Given the description of an element on the screen output the (x, y) to click on. 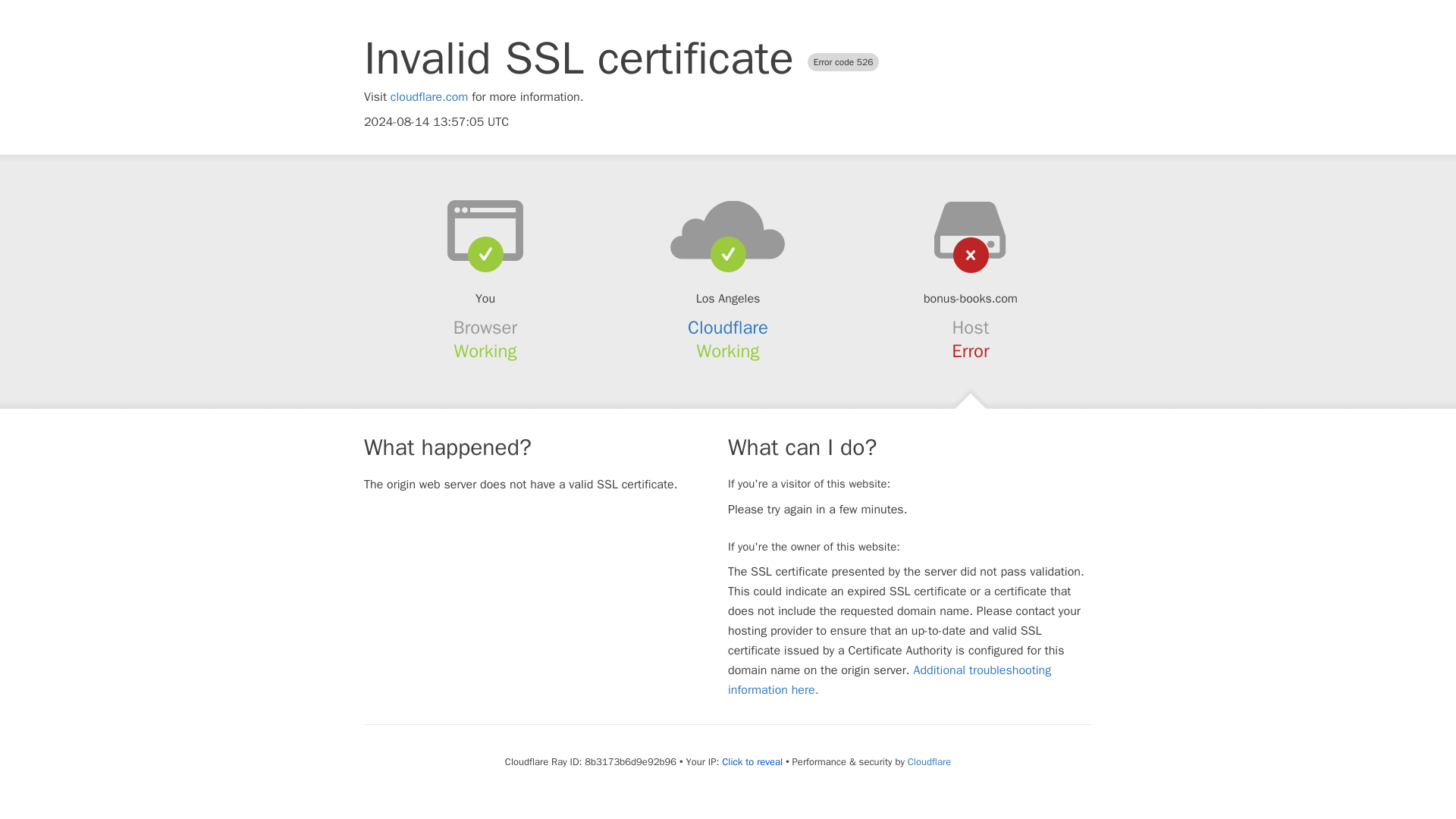
Click to reveal (752, 762)
cloudflare.com (429, 96)
Additional troubleshooting information here. (889, 679)
Cloudflare (727, 327)
Cloudflare (928, 761)
